Given the description of an element on the screen output the (x, y) to click on. 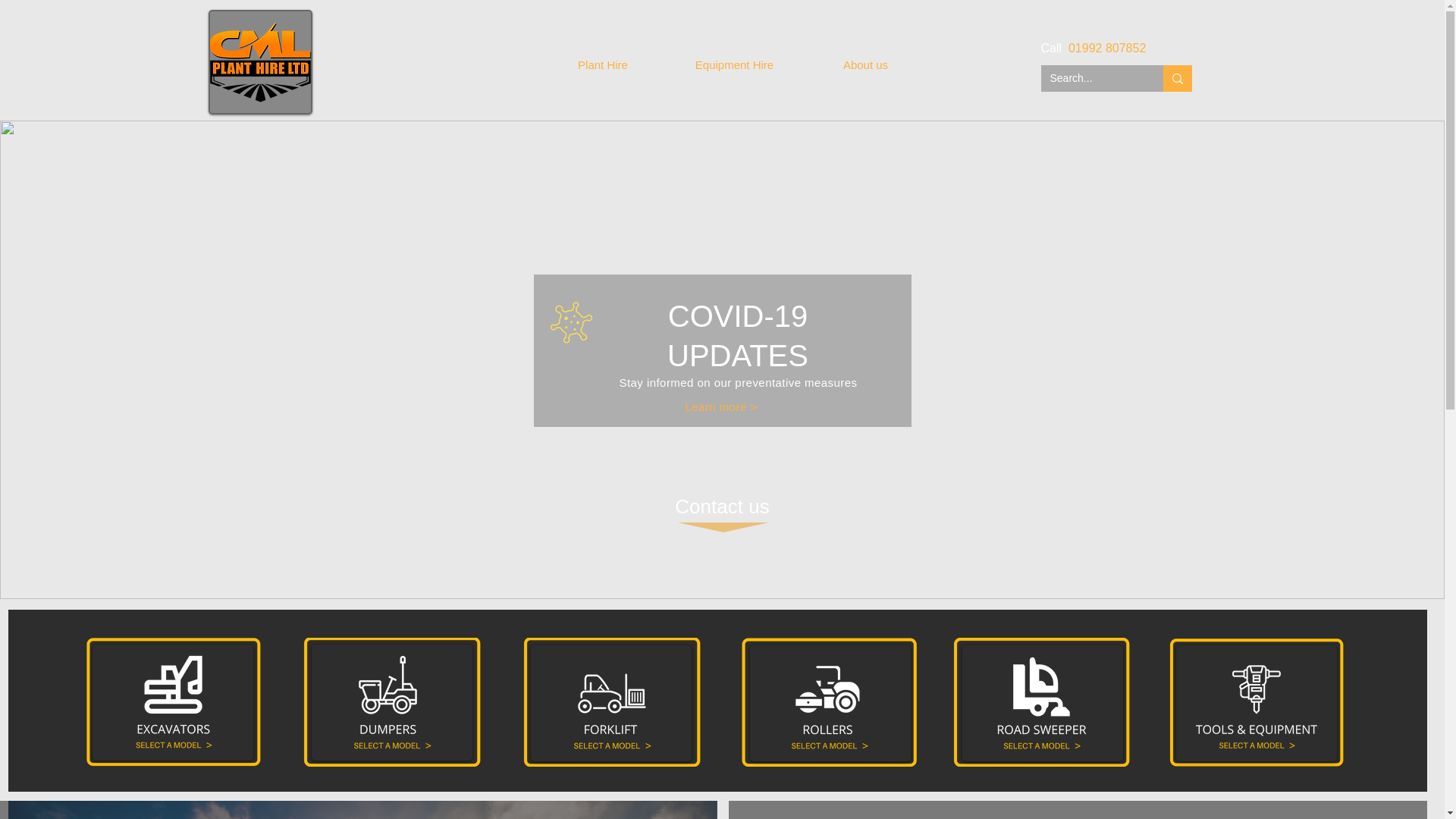
About us (865, 64)
Plant Hire (602, 64)
Home (470, 64)
Equipment Hire (733, 64)
Contact us (722, 507)
Call  01992 807852 (1093, 47)
